Given the description of an element on the screen output the (x, y) to click on. 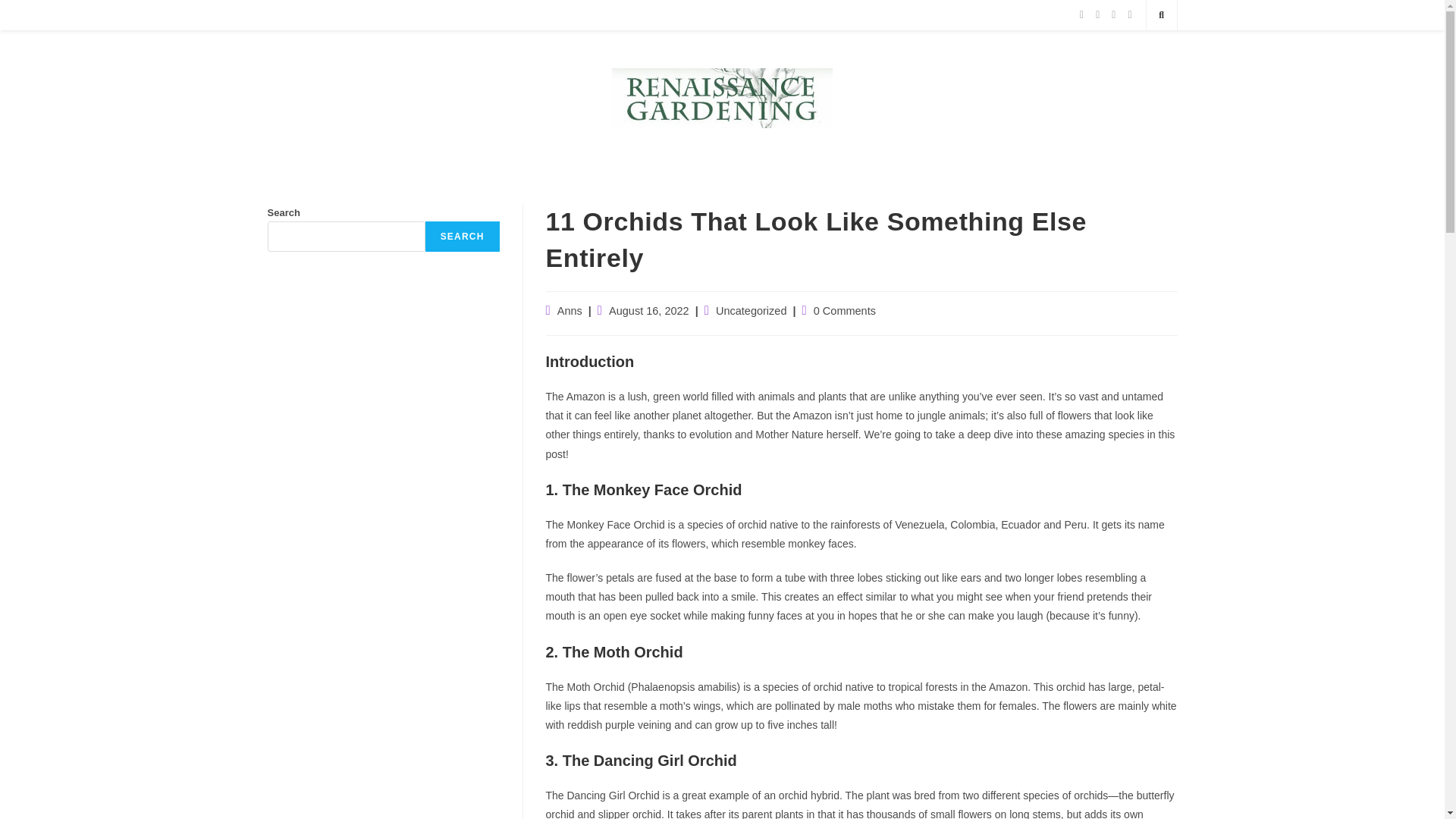
Anns (569, 310)
SEARCH (462, 236)
Uncategorized (751, 310)
Posts by Anns (569, 310)
0 Comments (844, 310)
